Given the description of an element on the screen output the (x, y) to click on. 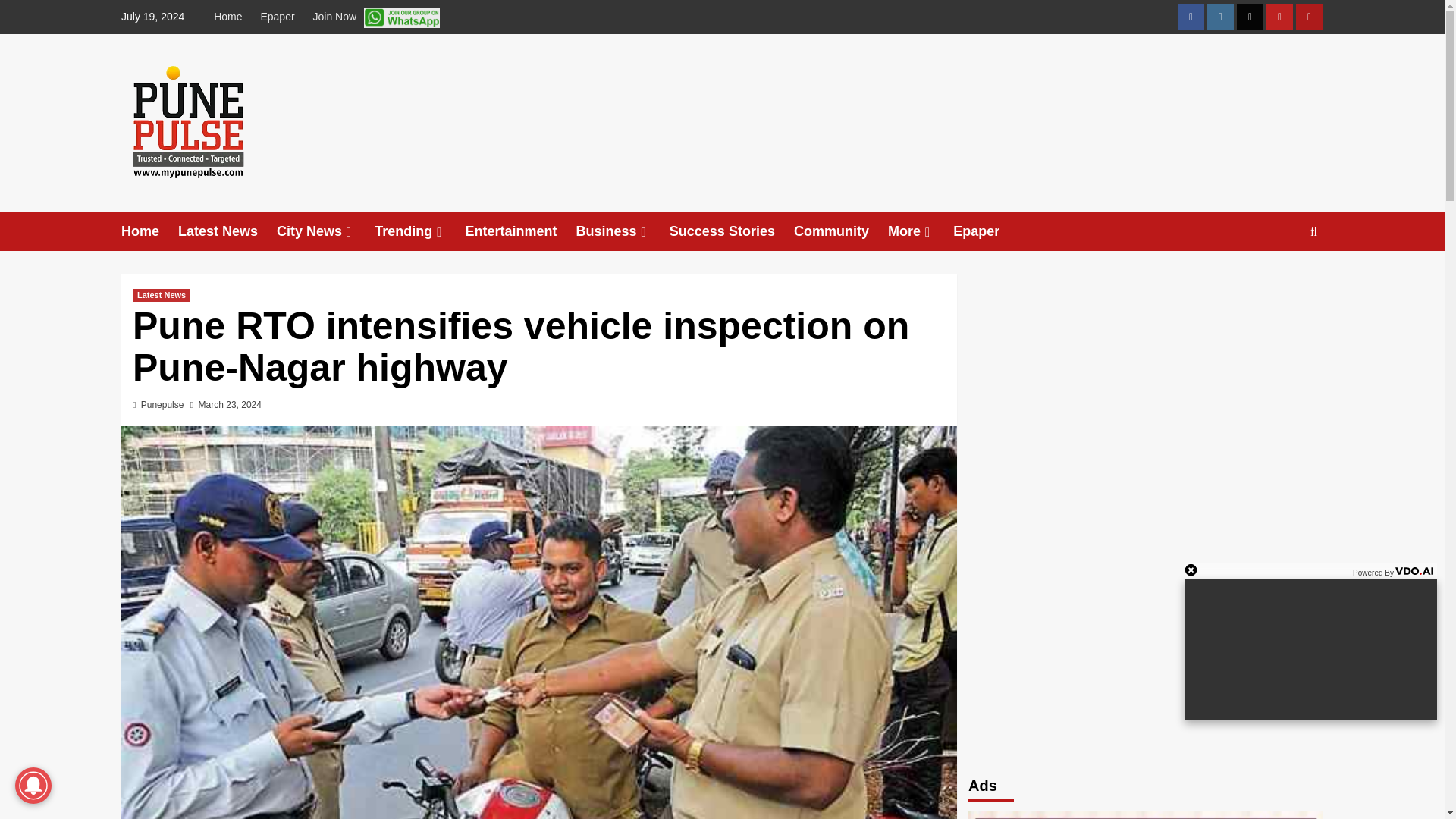
Telegram (1308, 17)
More (920, 231)
Trending (419, 231)
Home (148, 231)
Epaper (276, 17)
Community (840, 231)
Instagram (1220, 17)
Latest News (226, 231)
Business (622, 231)
City News (325, 231)
Join Now (375, 17)
Success Stories (731, 231)
Youtube (1279, 17)
Entertainment (520, 231)
Home (231, 17)
